Given the description of an element on the screen output the (x, y) to click on. 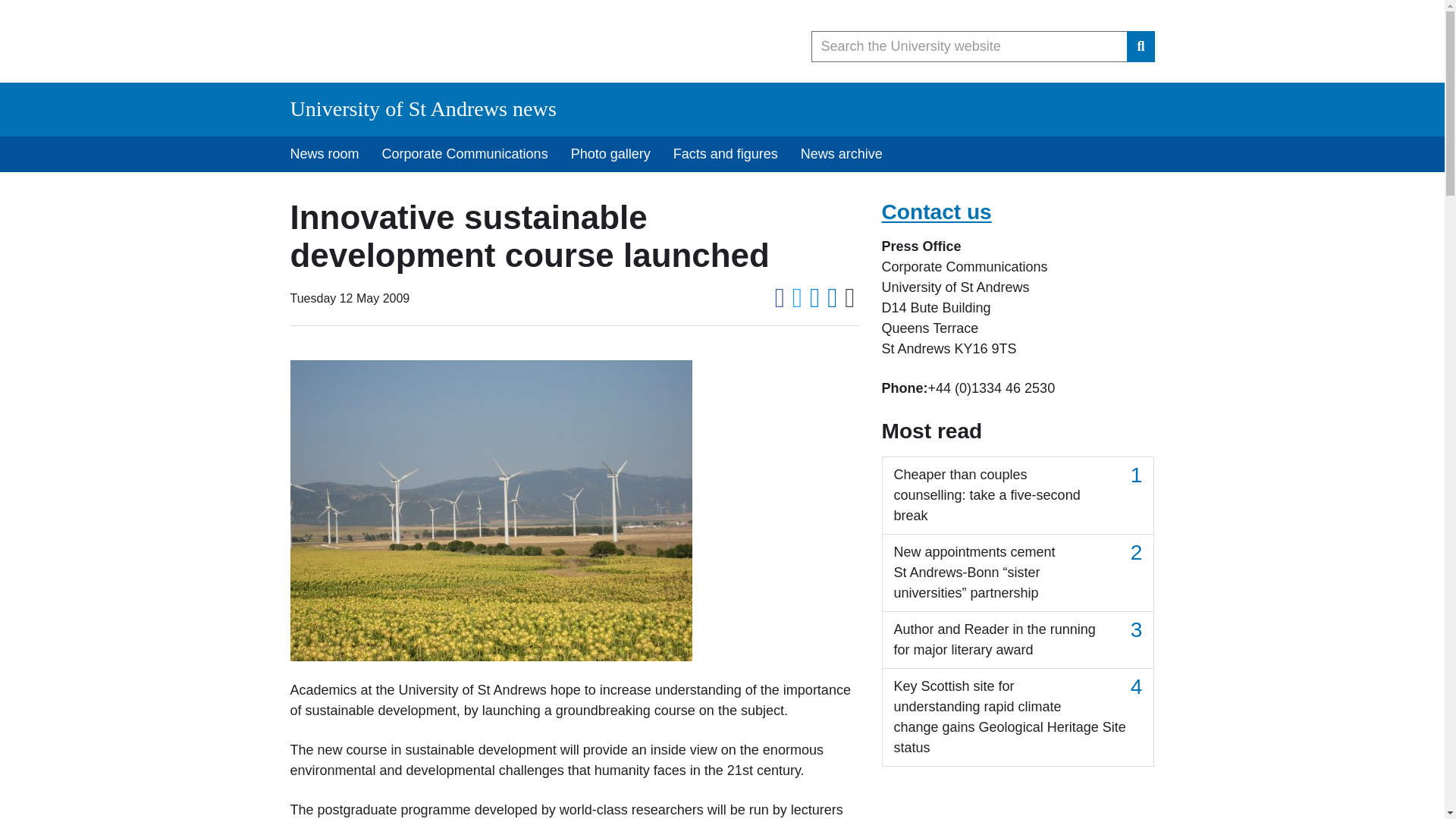
Contact us (935, 211)
Corporate Communications (465, 153)
Cheaper than couples counselling: take a five-second break  (1017, 495)
News archive (841, 153)
Photo gallery (610, 153)
University of St Andrews news (422, 108)
Facts and figures (725, 153)
Author and Reader in the running for major literary award (1017, 639)
News room (325, 153)
